Given the description of an element on the screen output the (x, y) to click on. 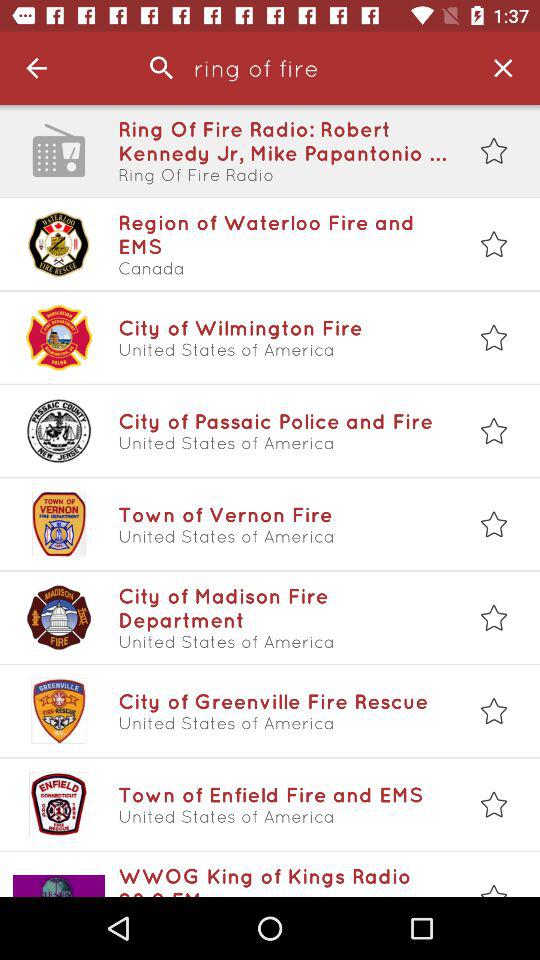
turn on the region of waterloo item (283, 234)
